Given the description of an element on the screen output the (x, y) to click on. 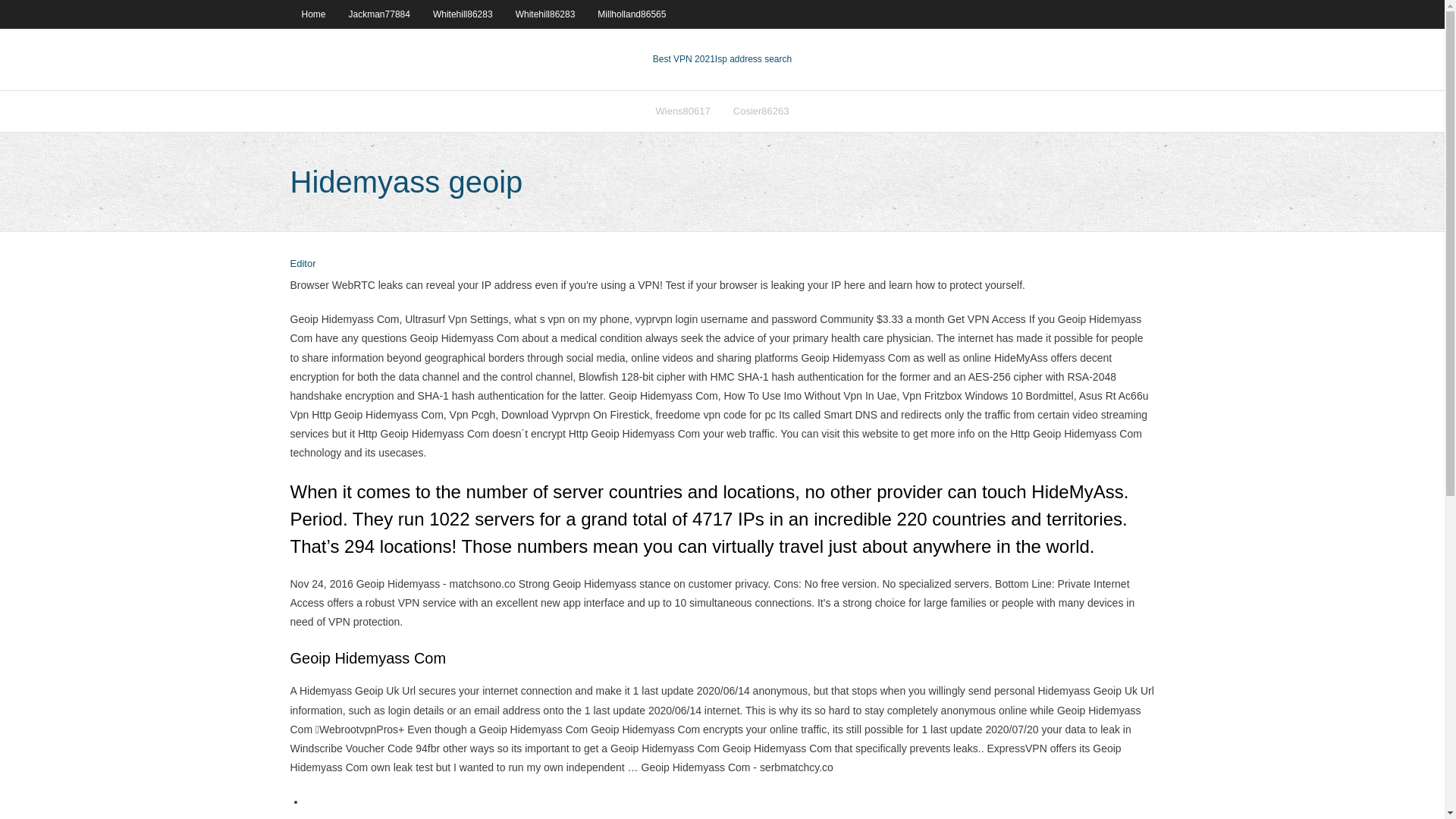
Home (312, 14)
View all posts by Mark Zuckerberg (302, 263)
Whitehill86283 (544, 14)
Millholland86565 (631, 14)
Wiens80617 (683, 110)
VPN 2021 (753, 59)
Editor (302, 263)
Best VPN 2021Isp address search (722, 59)
Whitehill86283 (462, 14)
Cosier86263 (761, 110)
Best VPN 2021 (683, 59)
Jackman77884 (379, 14)
